Given the description of an element on the screen output the (x, y) to click on. 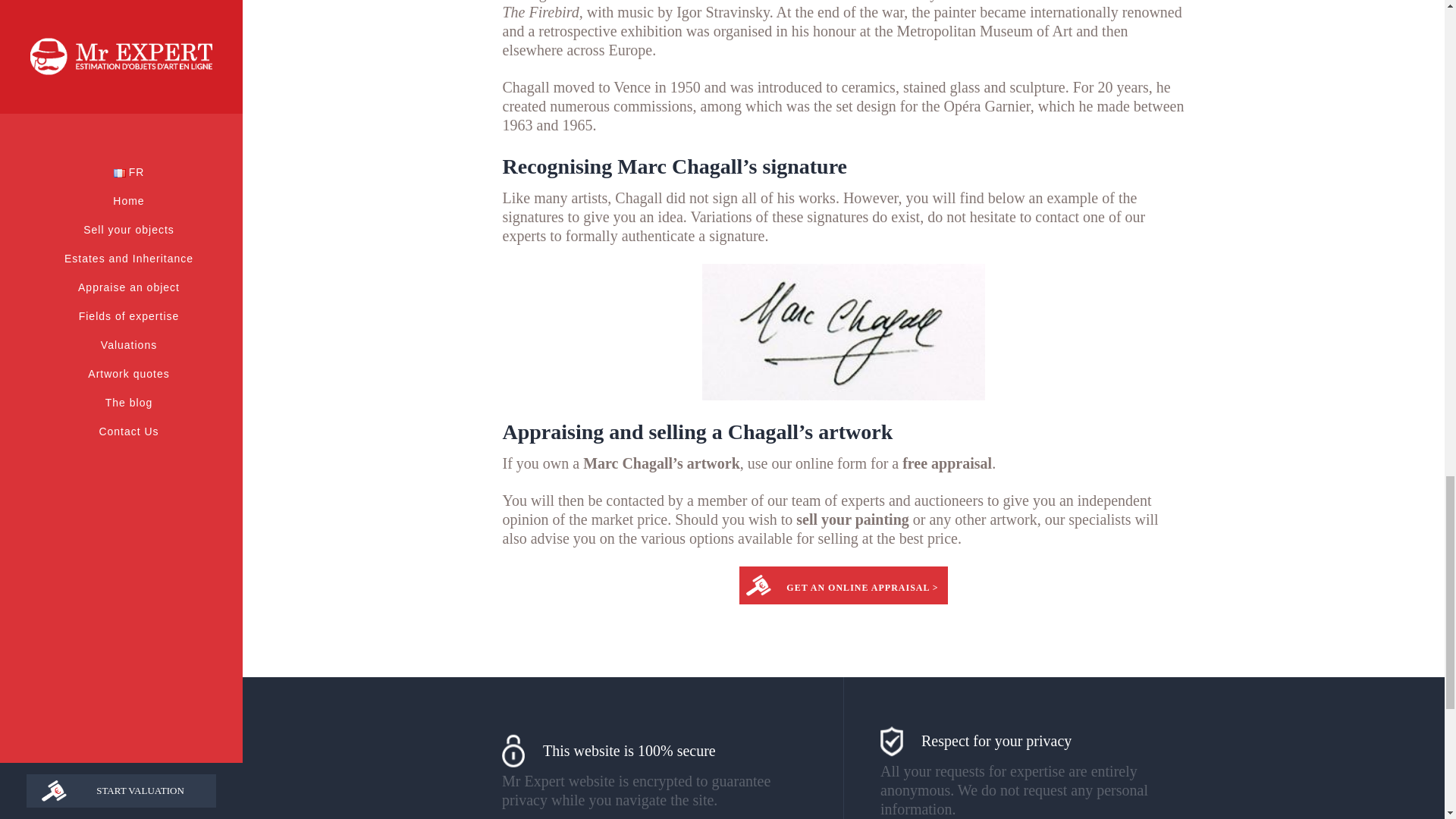
Metropolitan Museum of Art (984, 30)
sell your painting (852, 519)
